Given the description of an element on the screen output the (x, y) to click on. 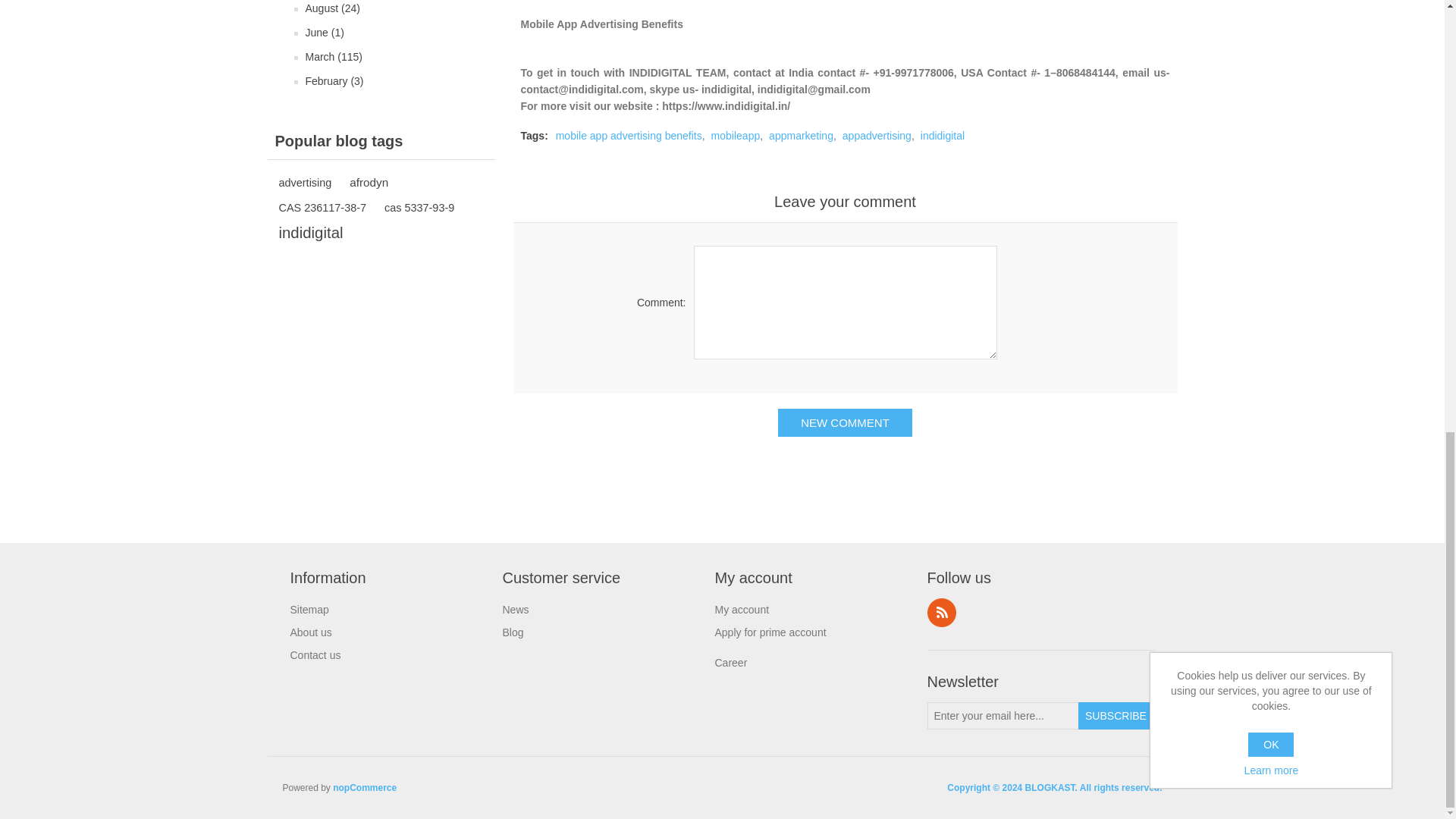
indidigital (941, 135)
New comment (844, 422)
CAS 236117-38-7 (322, 207)
mobile app advertising benefits (628, 135)
indidigital (311, 232)
About us (310, 632)
advertising (305, 182)
Mobile App Advertising Benefits (600, 24)
Contact us (314, 654)
New comment (844, 422)
